Given the description of an element on the screen output the (x, y) to click on. 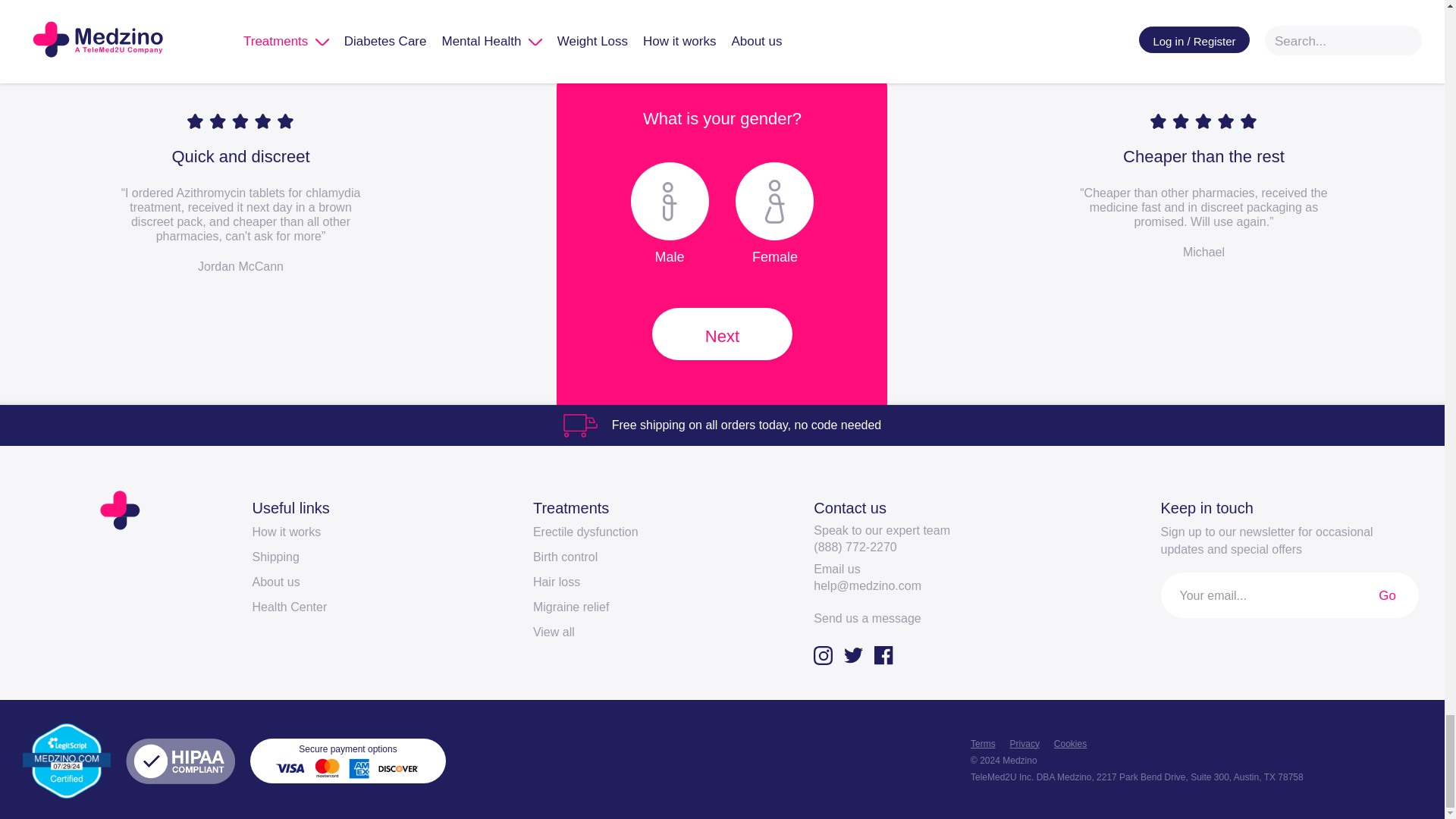
Facebook (889, 655)
Instagram (828, 655)
Twitter (859, 655)
Verify LegitScript Approval (66, 759)
